Given the description of an element on the screen output the (x, y) to click on. 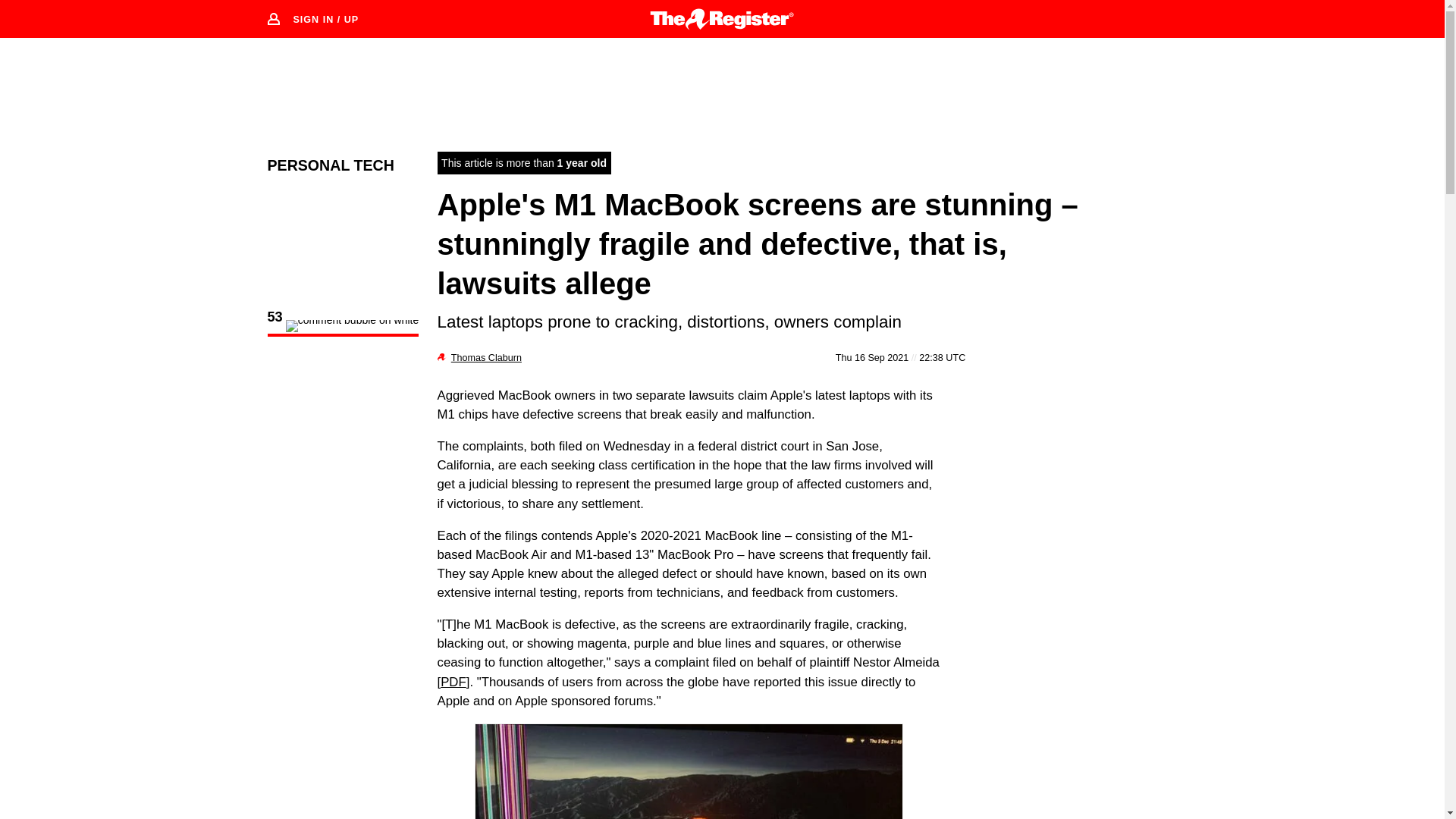
View comments on this article (342, 326)
Image of flawed Apple MacBook screen from Almeida complaint (688, 771)
Read more by this author (486, 357)
